Given the description of an element on the screen output the (x, y) to click on. 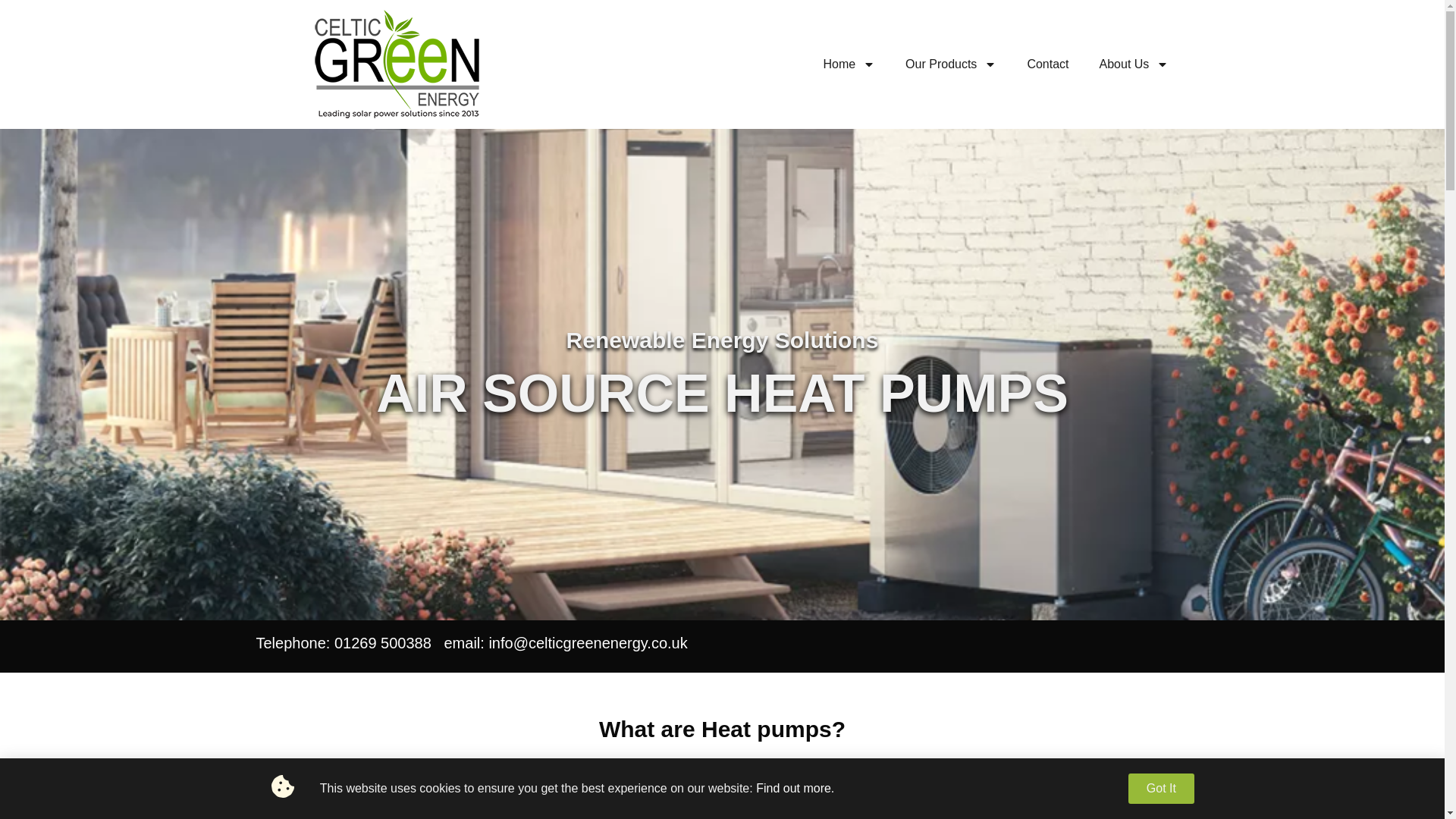
About Us (1134, 63)
Home (848, 63)
Contact (1047, 63)
Our Products (950, 63)
